Given the description of an element on the screen output the (x, y) to click on. 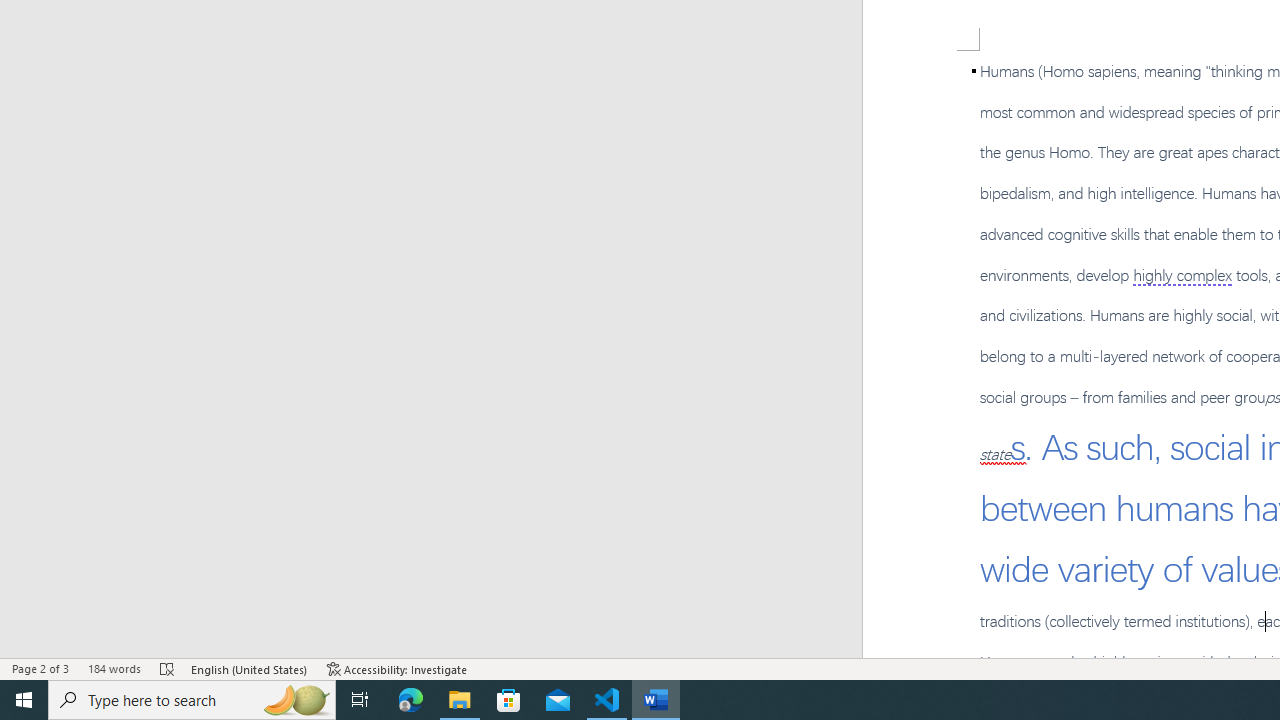
Page Number Page 2 of 3 (39, 668)
Accessibility Checker Accessibility: Investigate (397, 668)
Language English (United States) (250, 668)
Spelling and Grammar Check Errors (168, 668)
